Given the description of an element on the screen output the (x, y) to click on. 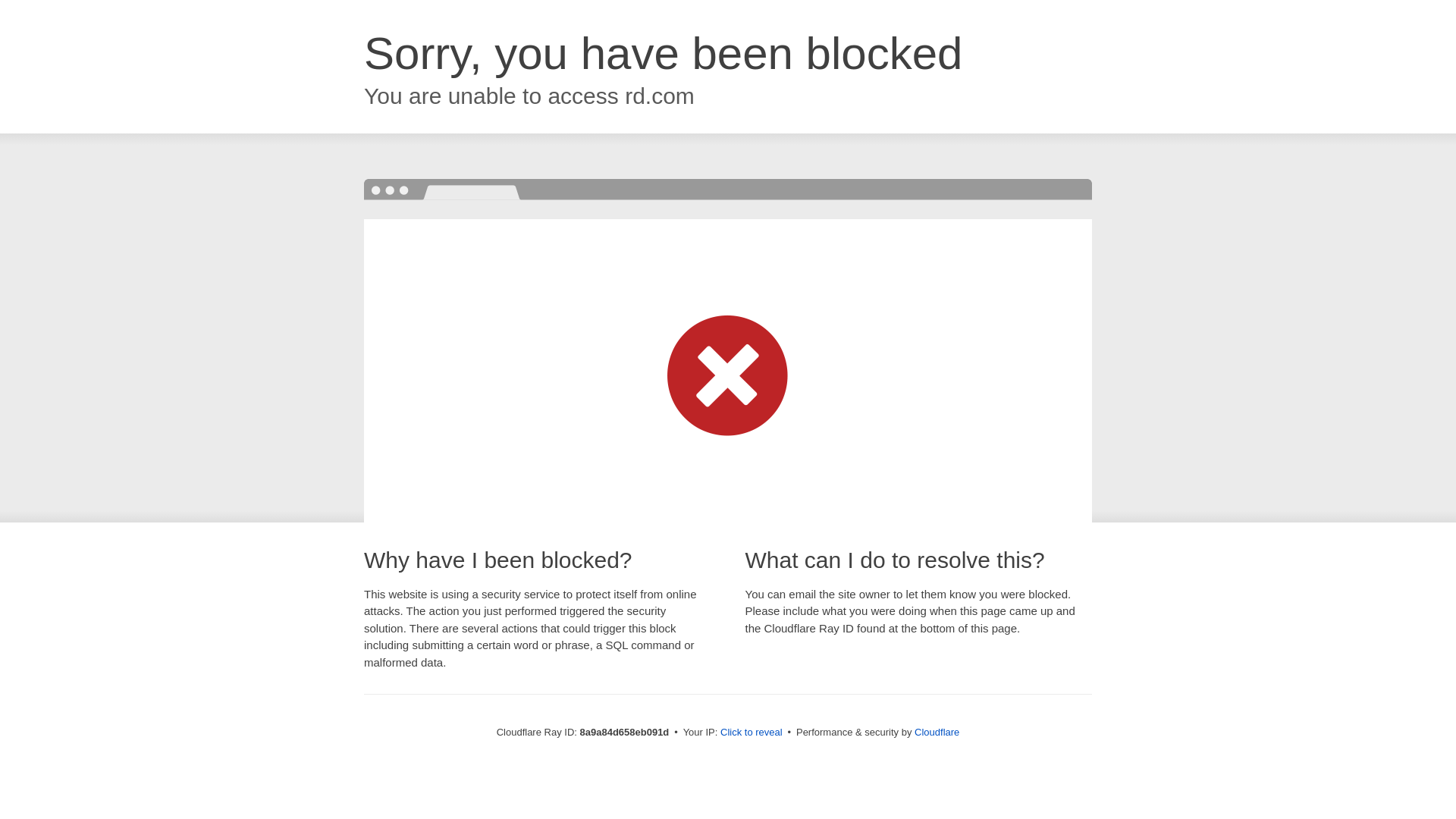
Cloudflare (936, 731)
Click to reveal (751, 732)
